Given the description of an element on the screen output the (x, y) to click on. 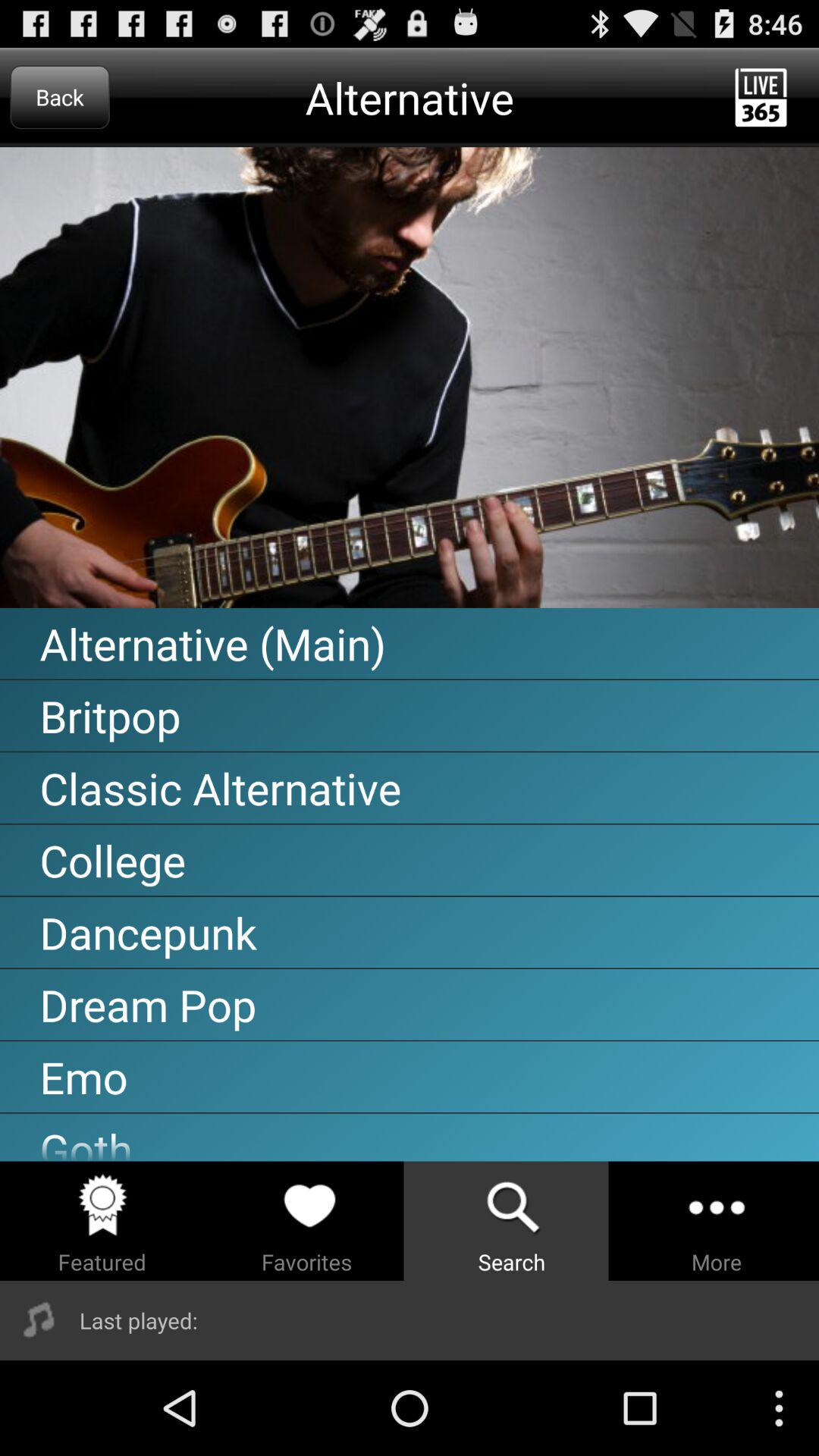
shows picture (409, 377)
